Given the description of an element on the screen output the (x, y) to click on. 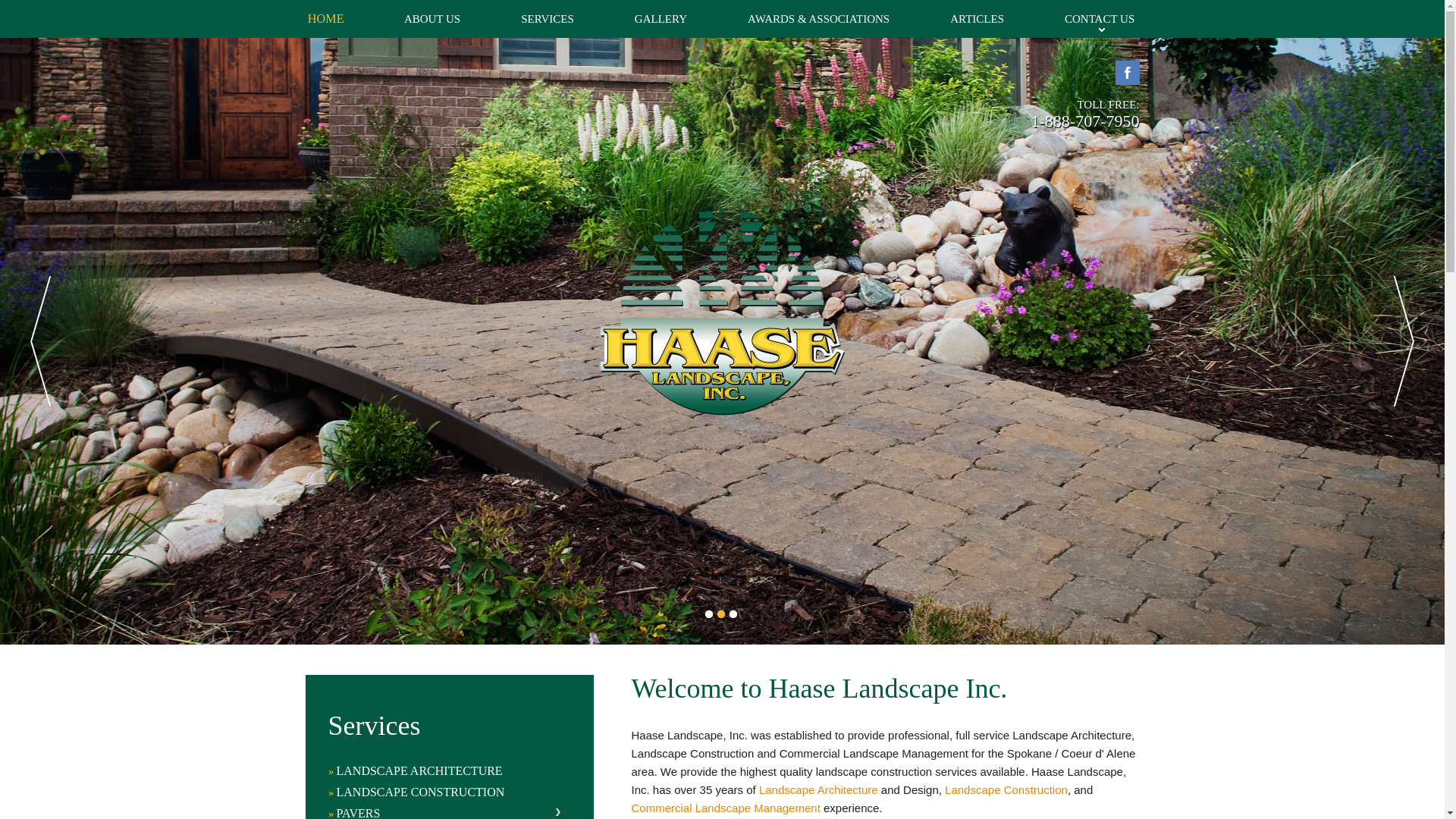
Landscape Architecture (817, 789)
Commercial Landscape Management (724, 807)
ARTICLES (976, 18)
LANDSCAPE CONSTRUCTION (444, 792)
Landscape Construction (1005, 789)
ABOUT US (432, 18)
CONTACT US (1085, 18)
PAVERS (444, 812)
LANDSCAPE ARCHITECTURE (444, 770)
HOME (336, 18)
SERVICES (547, 18)
GALLERY (660, 18)
